Given the description of an element on the screen output the (x, y) to click on. 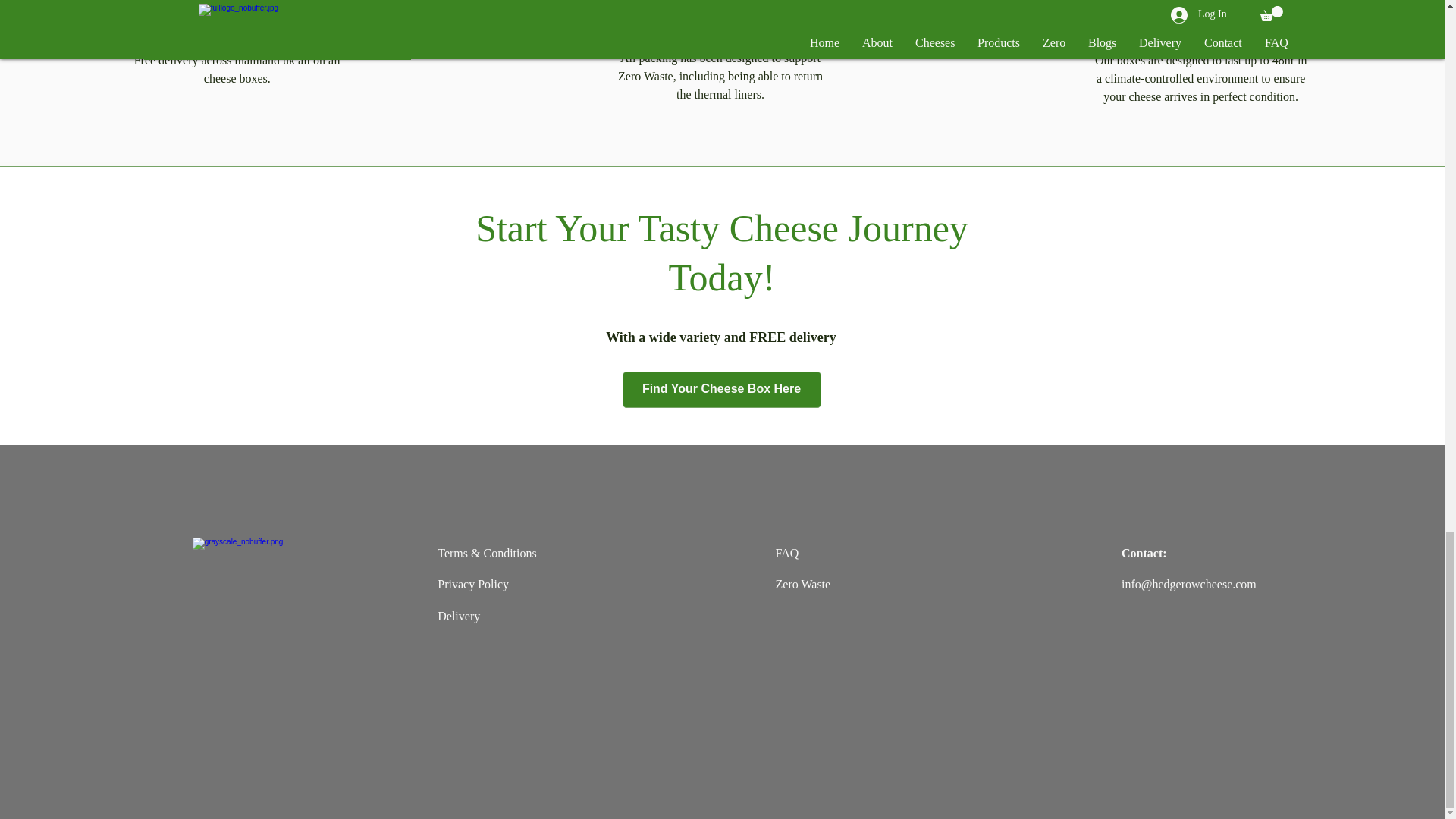
Contact: (1144, 553)
Delivery (459, 615)
FAQ (787, 553)
Zero Waste (803, 584)
Privacy Policy (473, 584)
Find Your Cheese Box Here (721, 389)
